Given the description of an element on the screen output the (x, y) to click on. 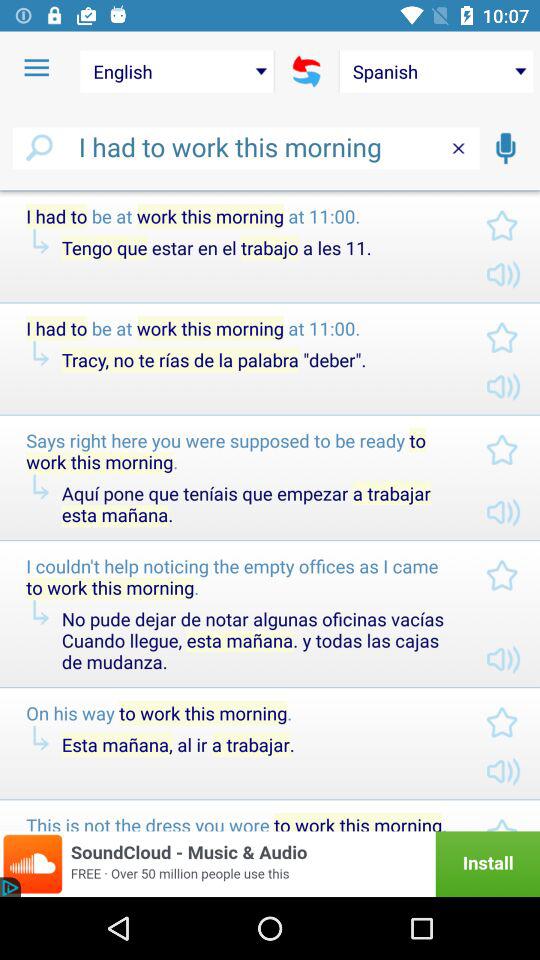
install soundcloud (270, 864)
